Given the description of an element on the screen output the (x, y) to click on. 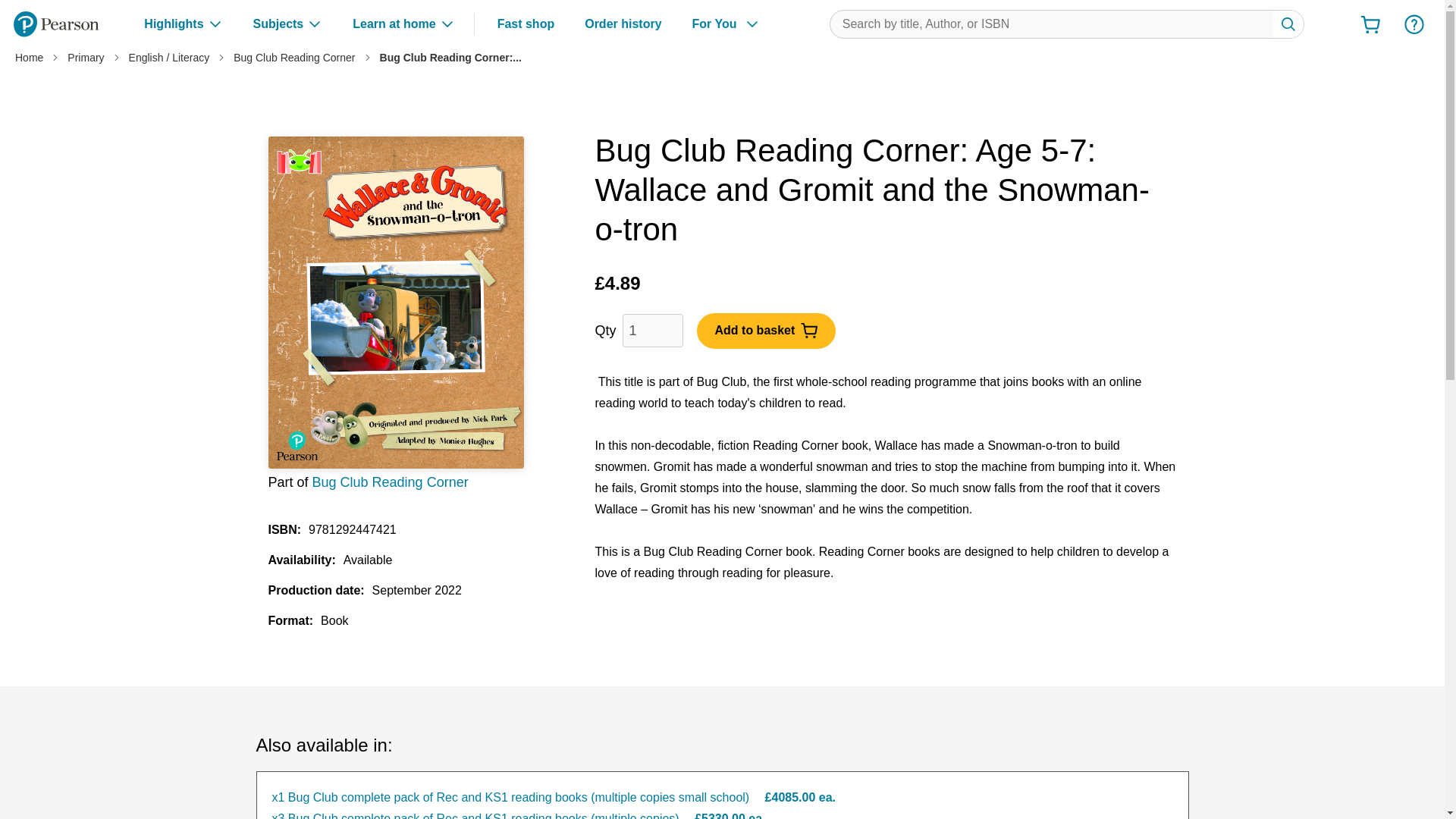
Bug Club Reading Corner (390, 482)
Search by title, Author, or ISBN (1287, 23)
Primary (84, 57)
Home (28, 57)
Bug Club Reading Corner (293, 57)
1 (652, 330)
Search by title, Author, or ISBN (1287, 23)
Search by title, Author, or ISBN (1066, 23)
Fast shop (525, 24)
For You (725, 24)
Order history (623, 24)
Add to basket (766, 330)
